Given the description of an element on the screen output the (x, y) to click on. 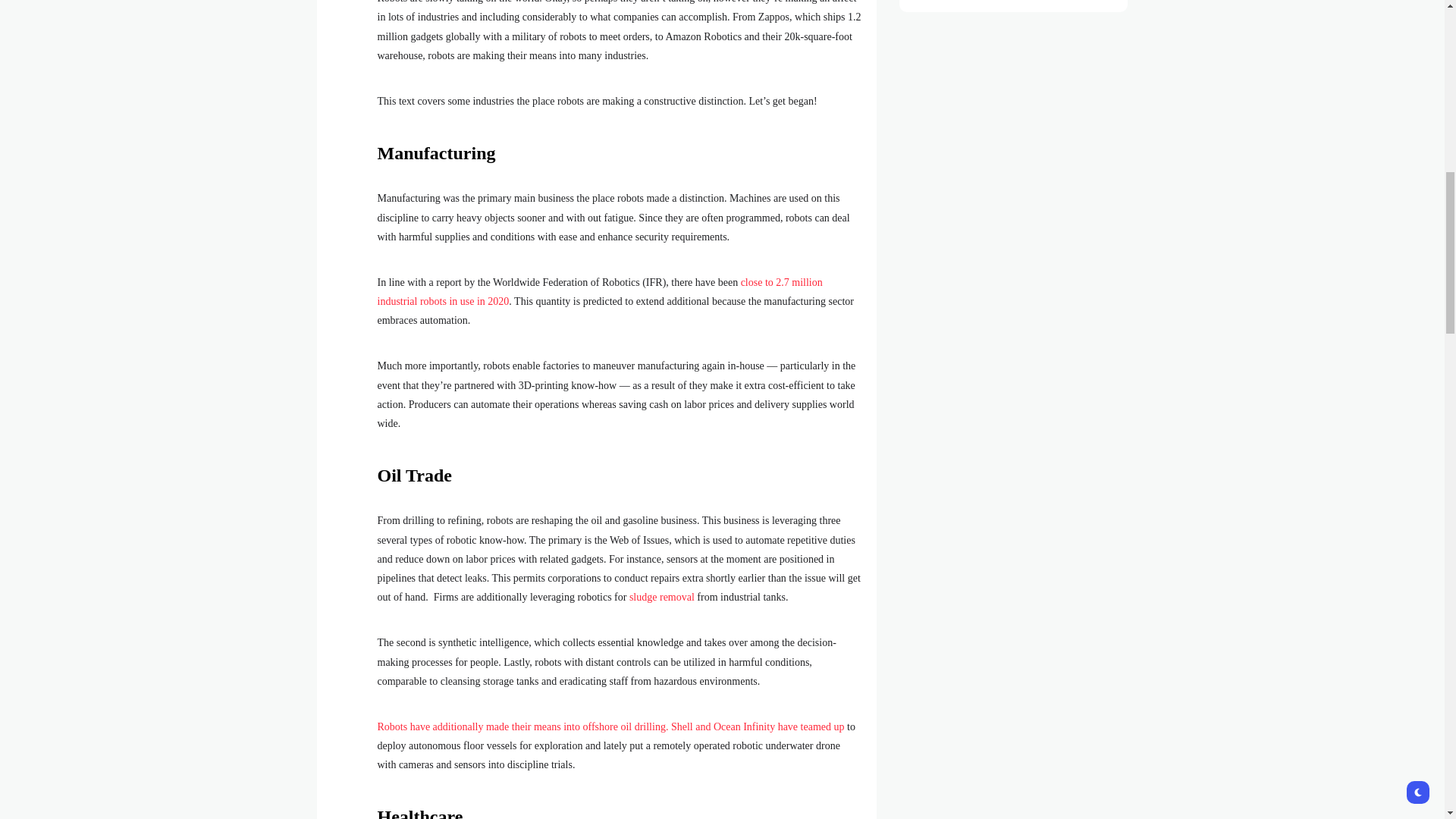
close to 2.7 million industrial robots in use in 2020 (599, 291)
sludge removal (661, 596)
